Given the description of an element on the screen output the (x, y) to click on. 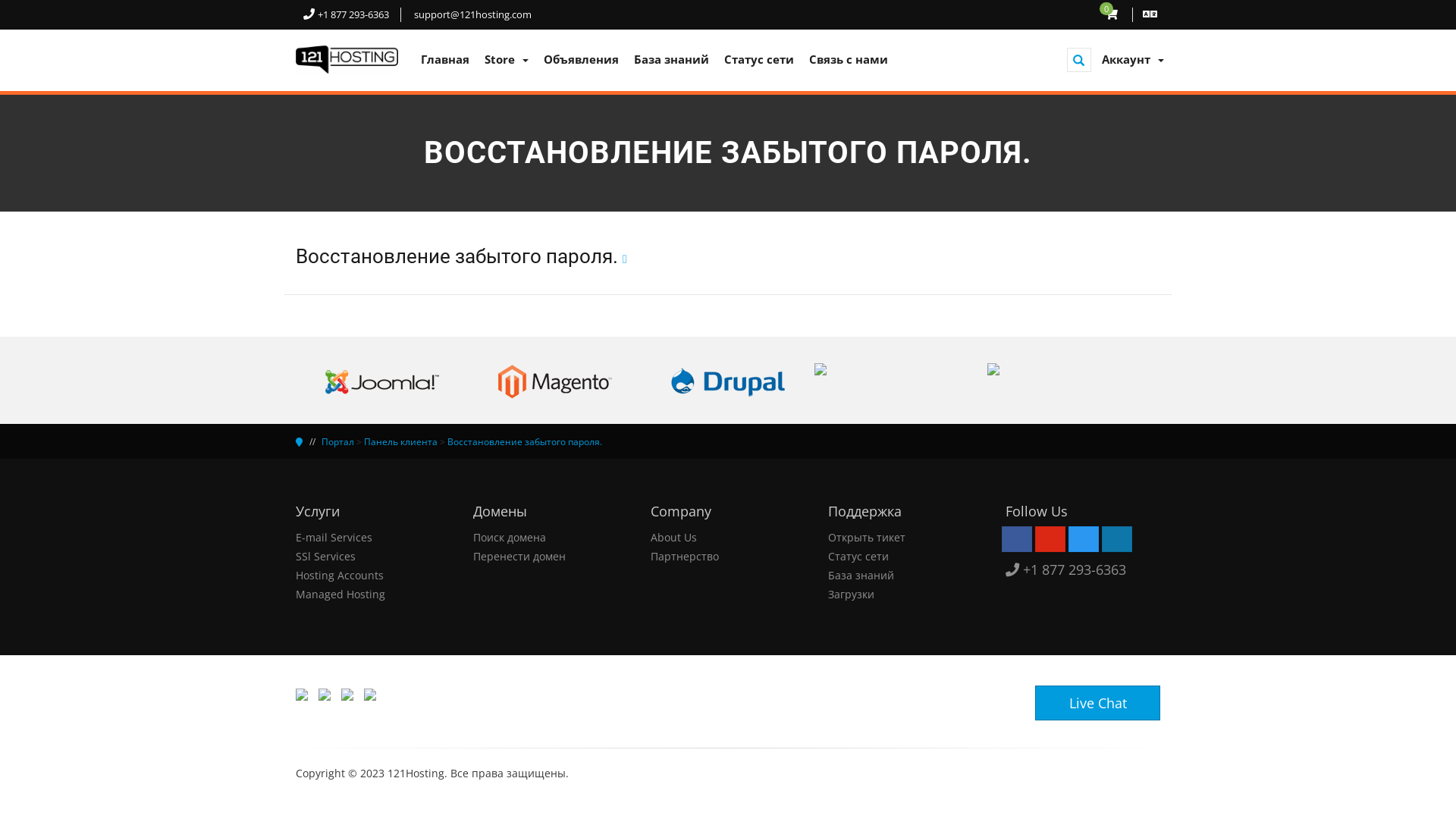
Managed Hosting Element type: text (340, 593)
Live Chat Element type: text (1097, 702)
SSl Services Element type: text (325, 556)
0 Element type: text (1112, 14)
Hosting Accounts Element type: text (339, 574)
Store   Element type: text (506, 59)
About Us Element type: text (673, 537)
E-mail Services Element type: text (333, 537)
